Given the description of an element on the screen output the (x, y) to click on. 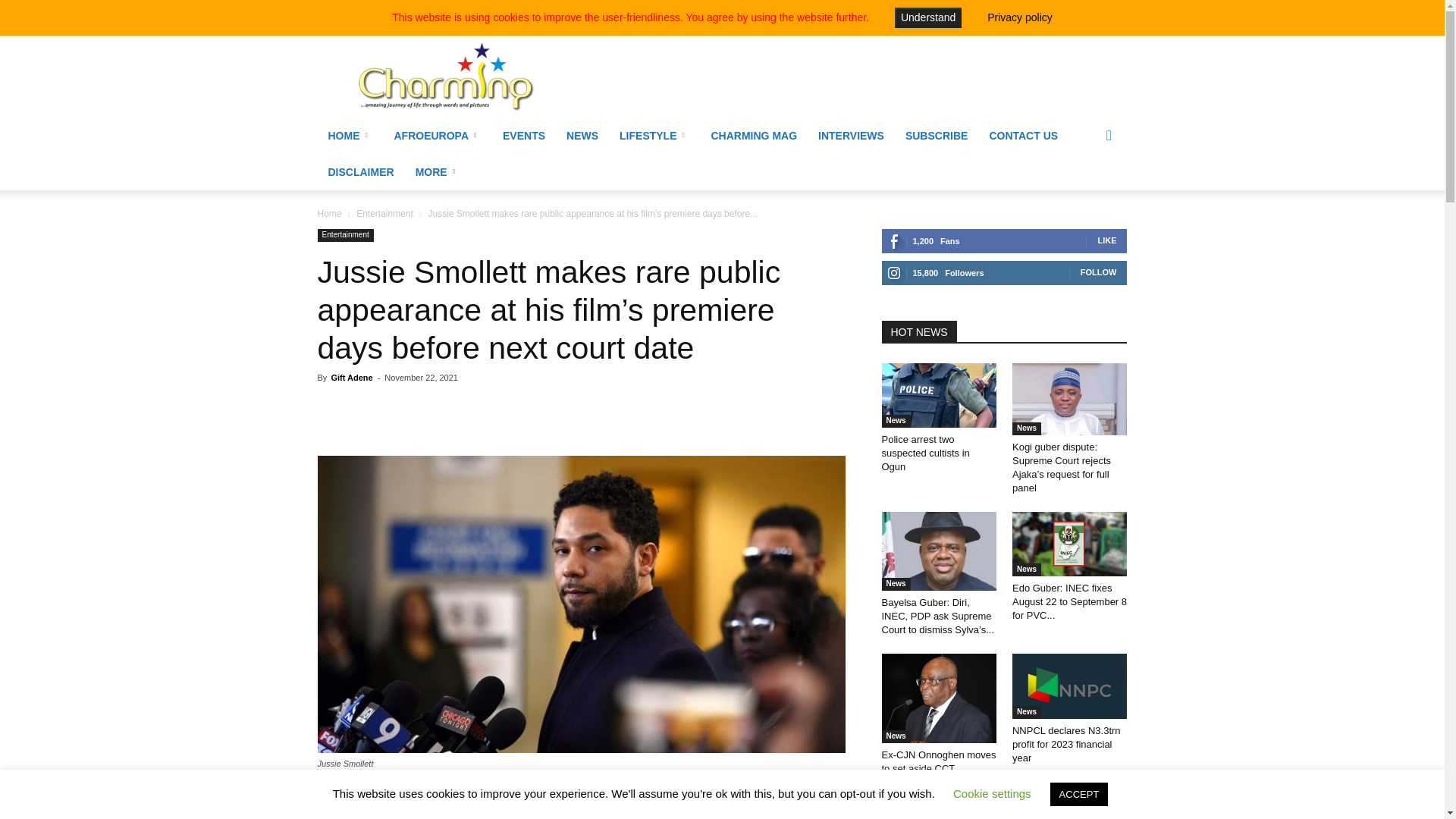
Instagram (1114, 10)
Contact (574, 10)
View all posts in Entertainment (384, 213)
Facebook (1090, 10)
About Us (529, 10)
Disclaimer (623, 10)
